Given the description of an element on the screen output the (x, y) to click on. 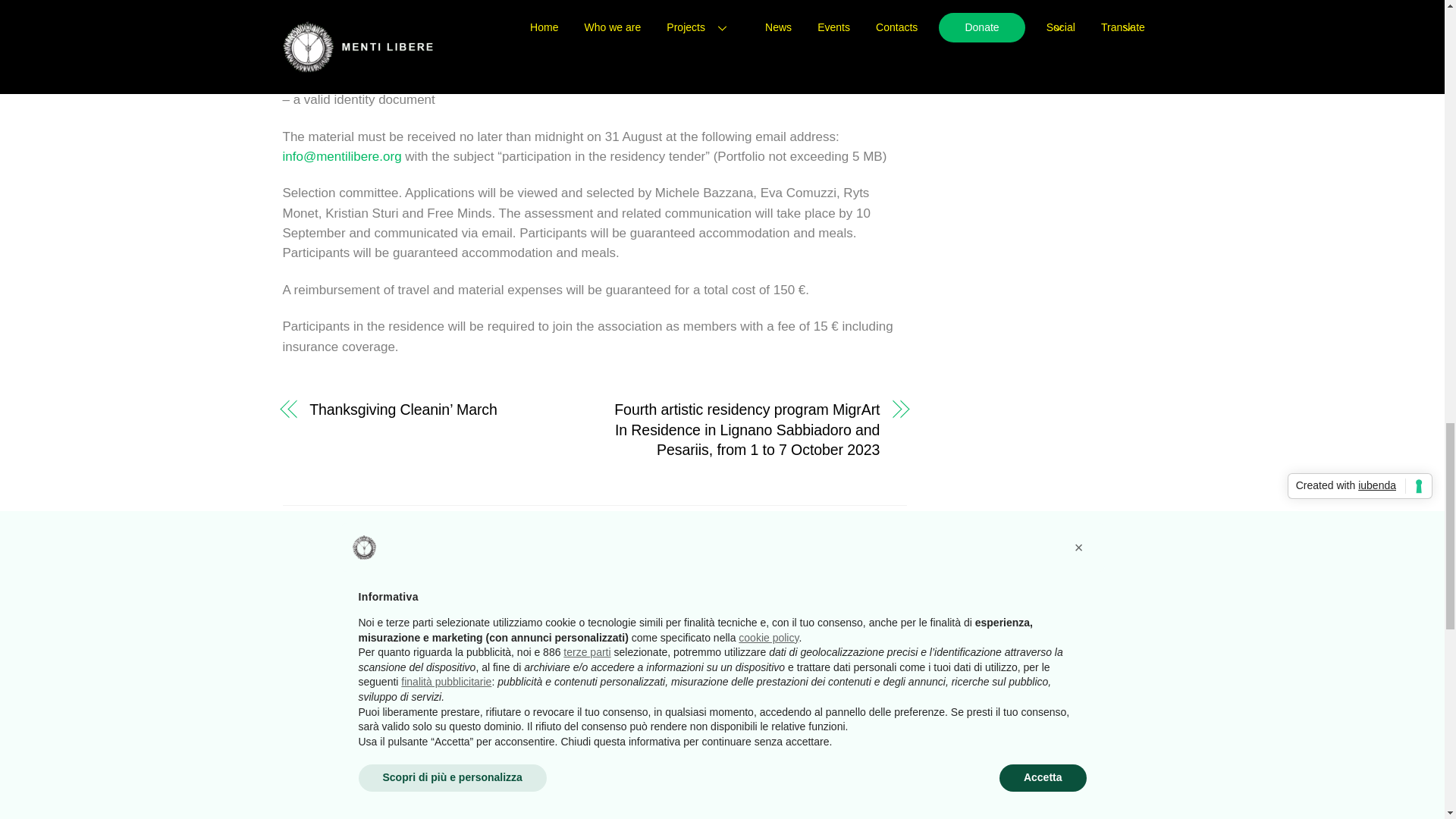
FLAT CALM (341, 747)
BLOG (295, 747)
CleaninMarchPoster11 copia (595, 648)
png-ME (807, 648)
